Given the description of an element on the screen output the (x, y) to click on. 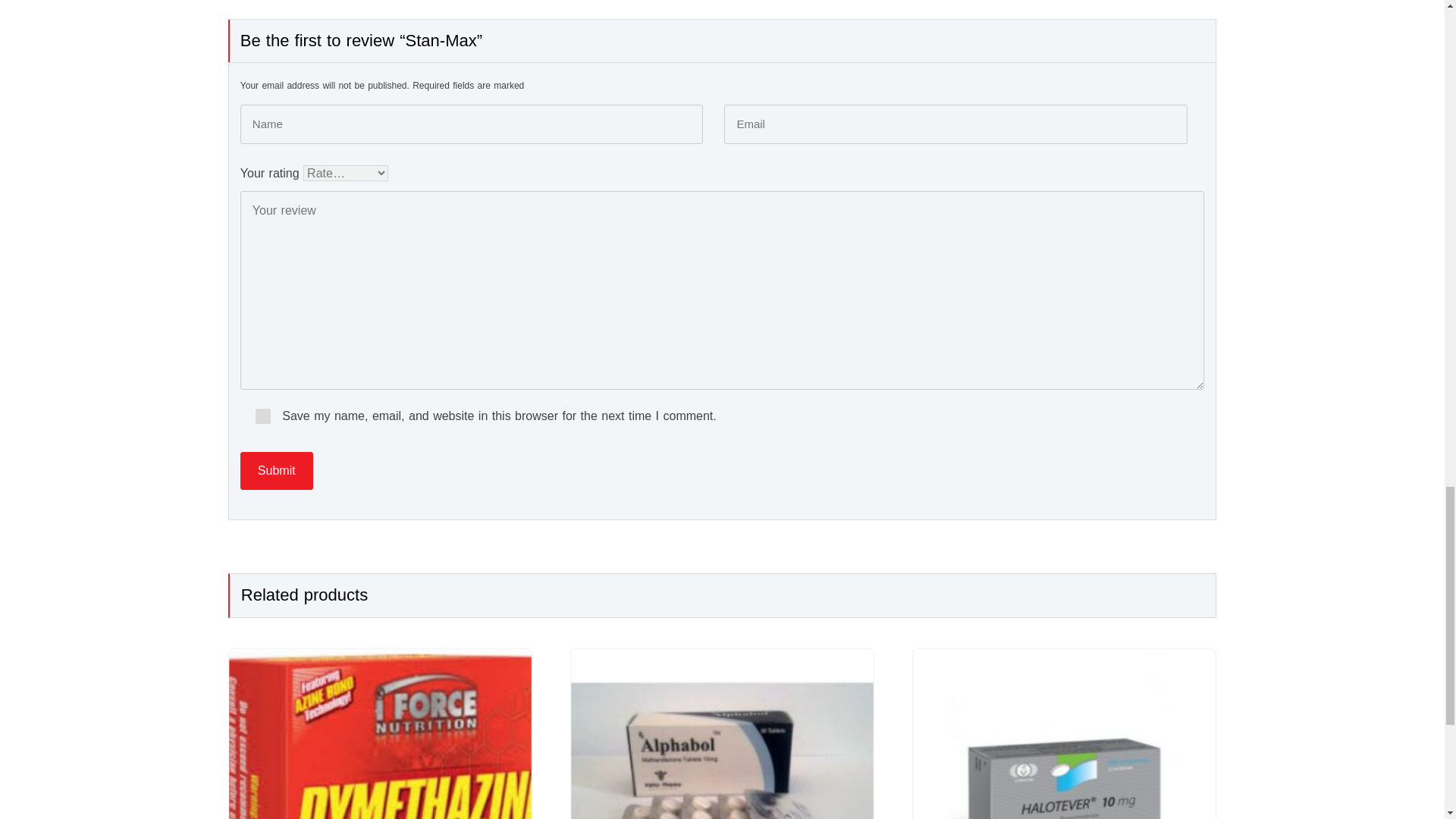
Submit (276, 470)
yes (263, 416)
Submit (276, 470)
